Given the description of an element on the screen output the (x, y) to click on. 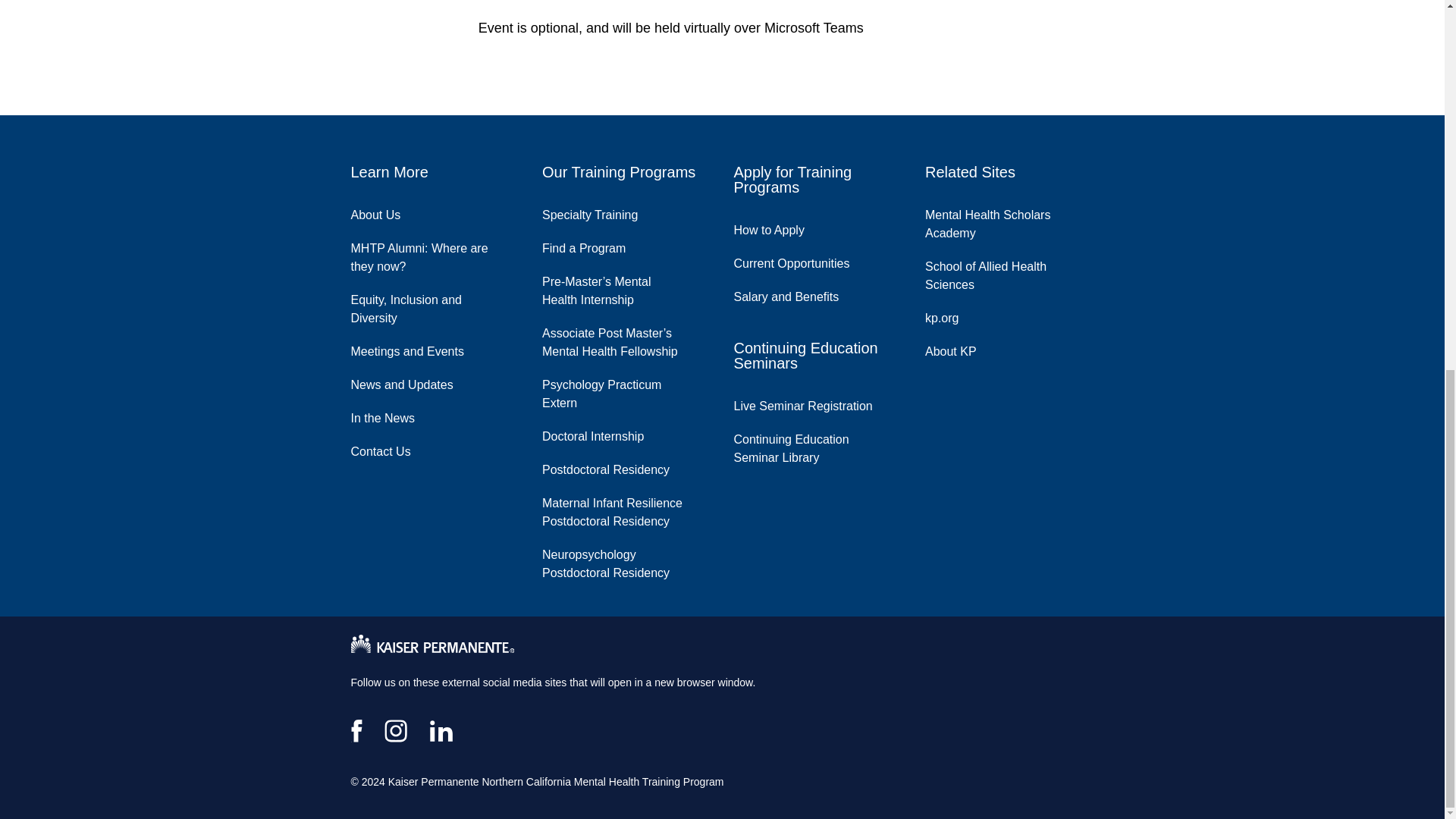
Meetings and Events (418, 347)
About Us (386, 211)
Specialty Training (601, 211)
News and Updates (413, 381)
Contact Us (391, 448)
MHTP Alumni: Where are they now? (434, 254)
Find a Program (594, 244)
Equity, Inclusion and Diversity (434, 305)
Instagram (395, 730)
Linked In (440, 730)
